Given the description of an element on the screen output the (x, y) to click on. 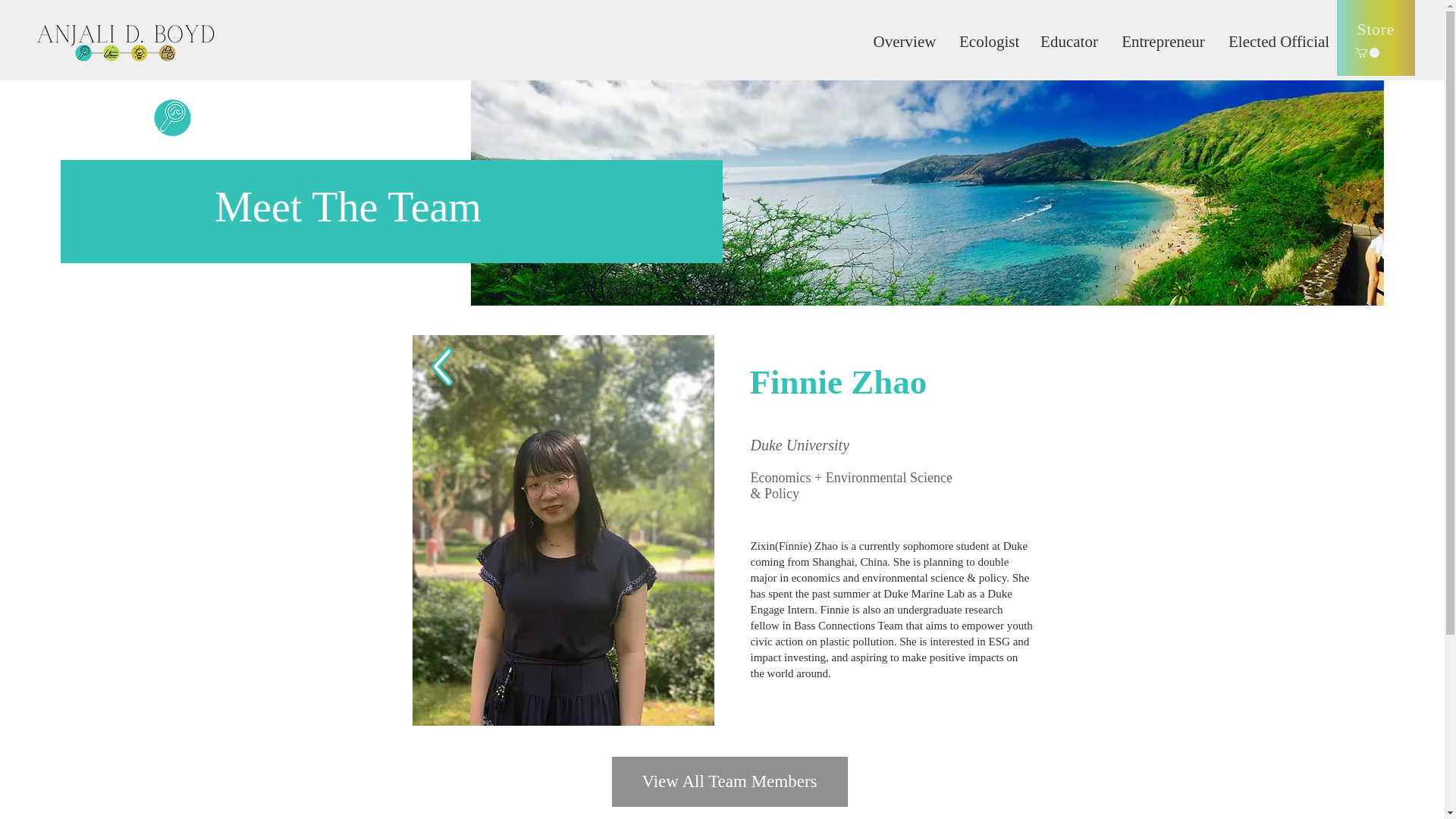
Store (1375, 38)
View All Team Members (729, 781)
Ecologist (988, 41)
Elected Official (1277, 41)
Entrepreneur (1163, 41)
Educator (1069, 41)
Overview (904, 41)
